Given the description of an element on the screen output the (x, y) to click on. 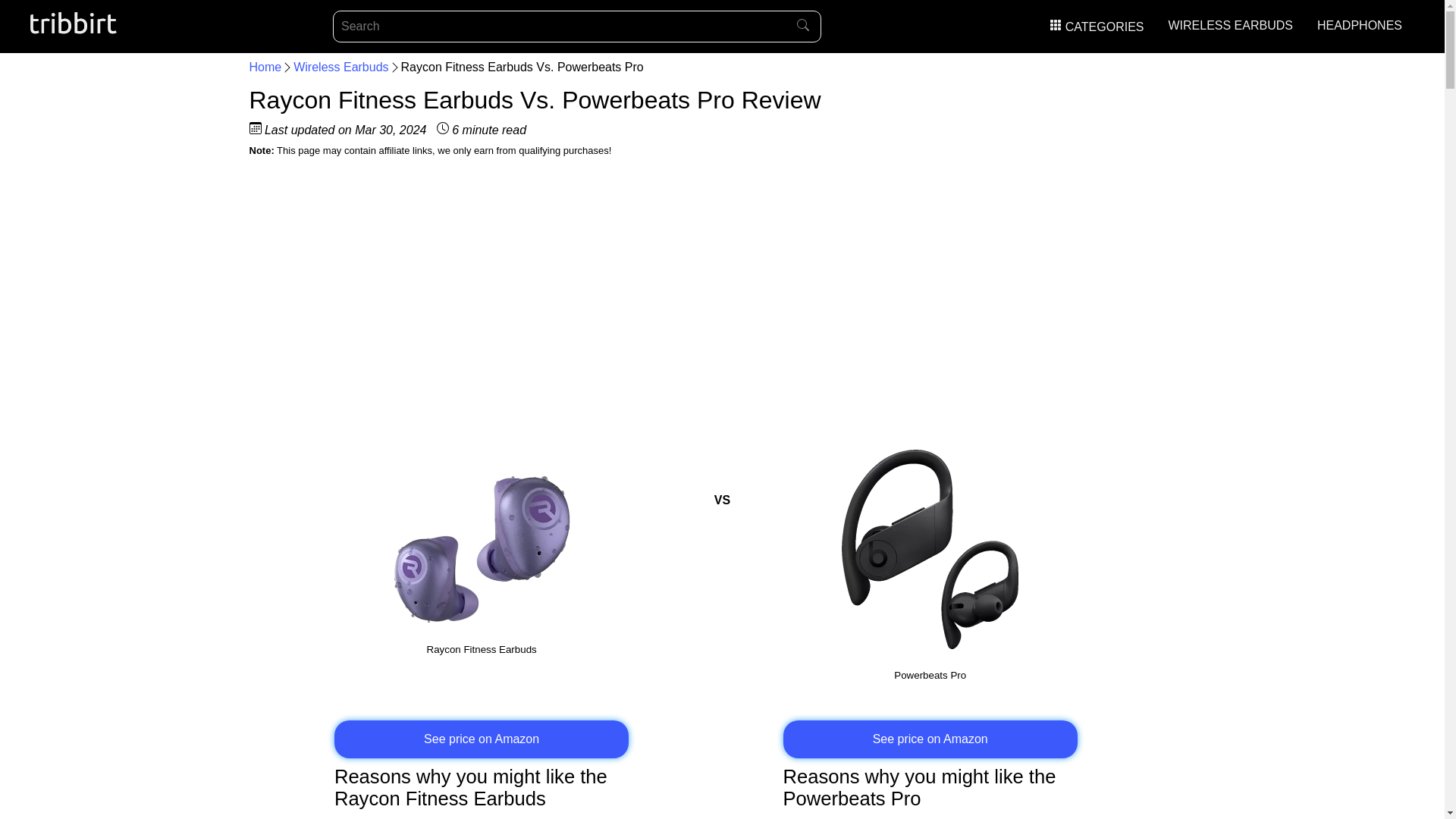
See price on Amazon (930, 739)
Wireless Earbuds (341, 67)
HEADPHONES (1359, 24)
See price on Amazon (481, 739)
WIRELESS EARBUDS (1229, 24)
Home (264, 67)
CATEGORIES (1095, 26)
